Given the description of an element on the screen output the (x, y) to click on. 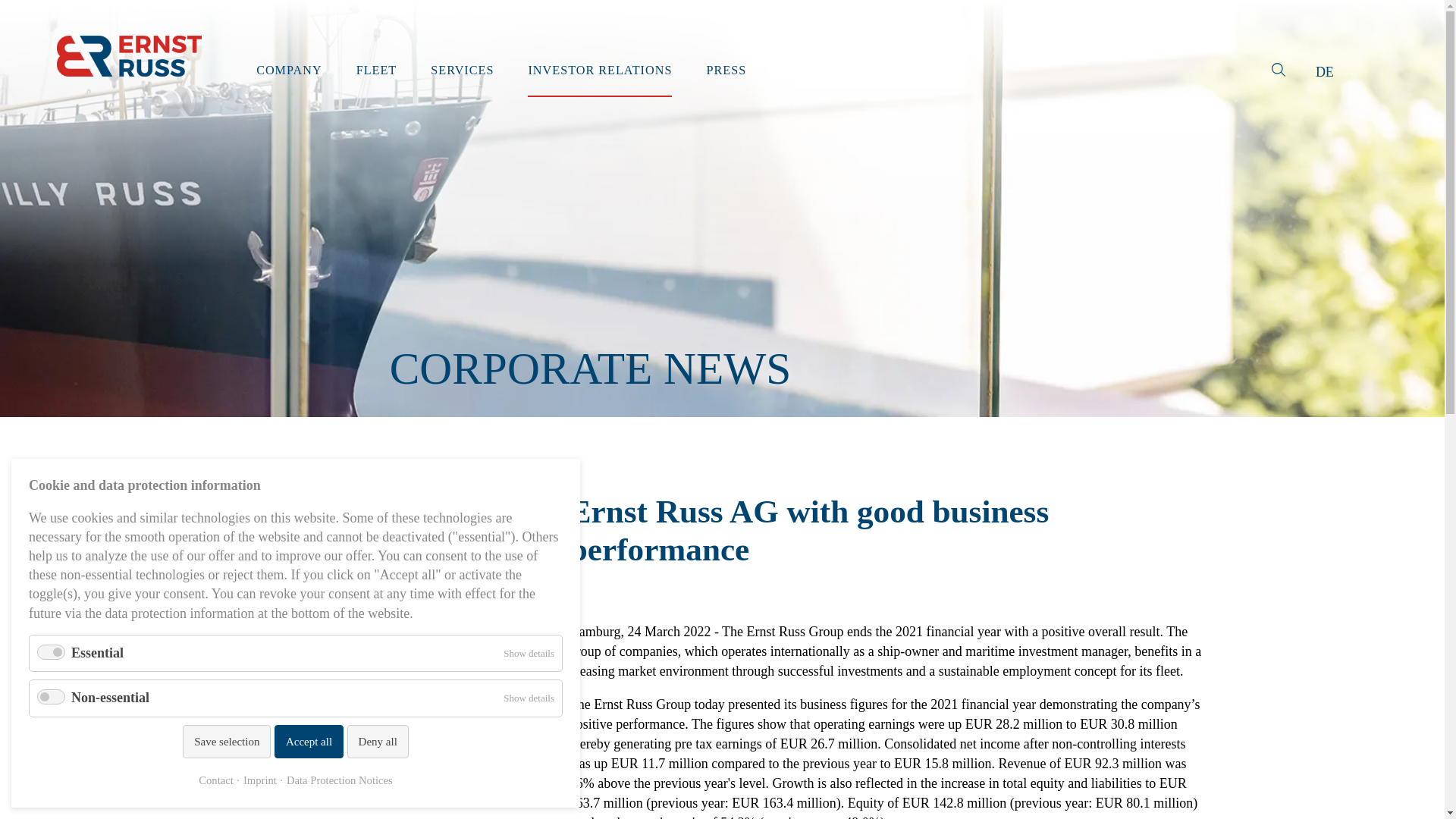
PRESS (725, 70)
INVESTOR RELATIONS (599, 70)
SERVICES (461, 70)
Company (288, 70)
FLEET (376, 70)
DE (1324, 71)
COMPANY (288, 70)
Investor Relations (599, 70)
Fleet (376, 70)
Services (461, 70)
